Given the description of an element on the screen output the (x, y) to click on. 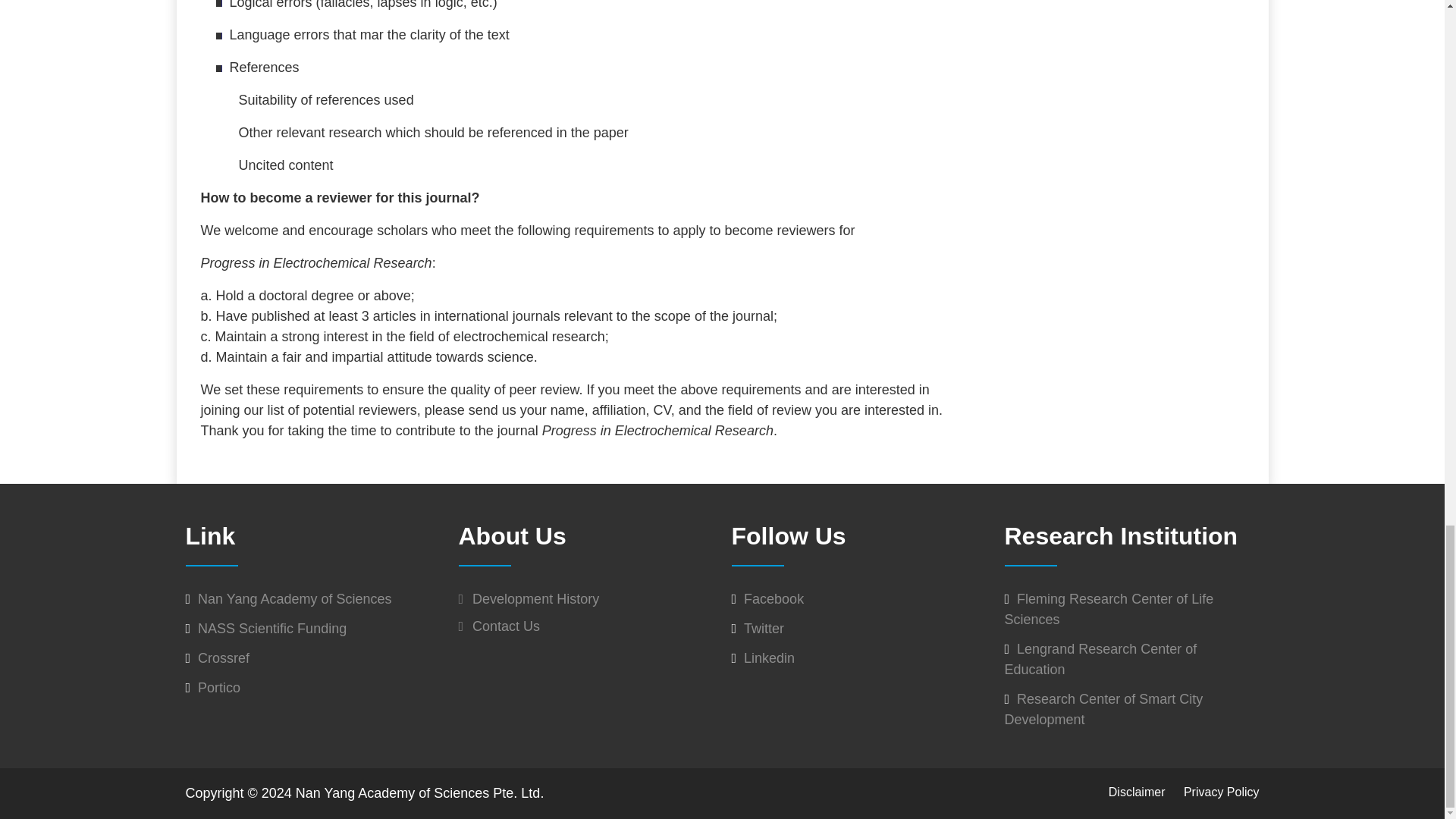
Contact Us (499, 626)
Fleming Research Center of Life Sciences (1108, 609)
Development History (528, 598)
Nan Yang Academy of Sciences (294, 598)
Portico (219, 687)
NASS Scientific Funding (272, 628)
Twitter (764, 628)
Research Center of Smart City Development (1103, 709)
Facebook (773, 598)
Lengrand Research Center of Education (1100, 659)
